Given the description of an element on the screen output the (x, y) to click on. 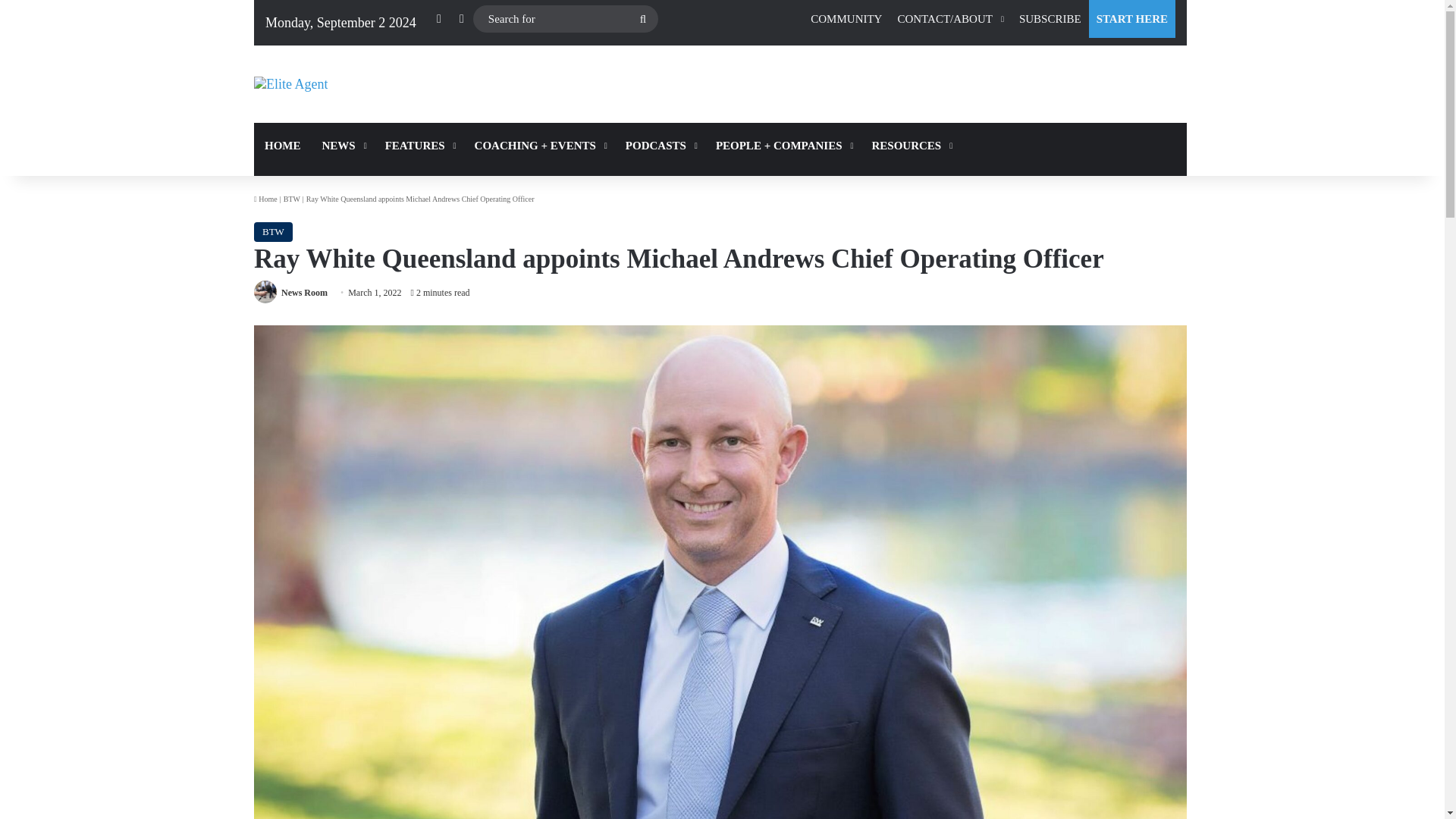
Elite Agent (290, 84)
FEATURES (419, 145)
SUBSCRIBE (1050, 18)
News Room (304, 292)
COMMUNITY (846, 18)
HOME (282, 145)
NEWS (342, 145)
Search for (565, 18)
START HERE (1131, 18)
